Given the description of an element on the screen output the (x, y) to click on. 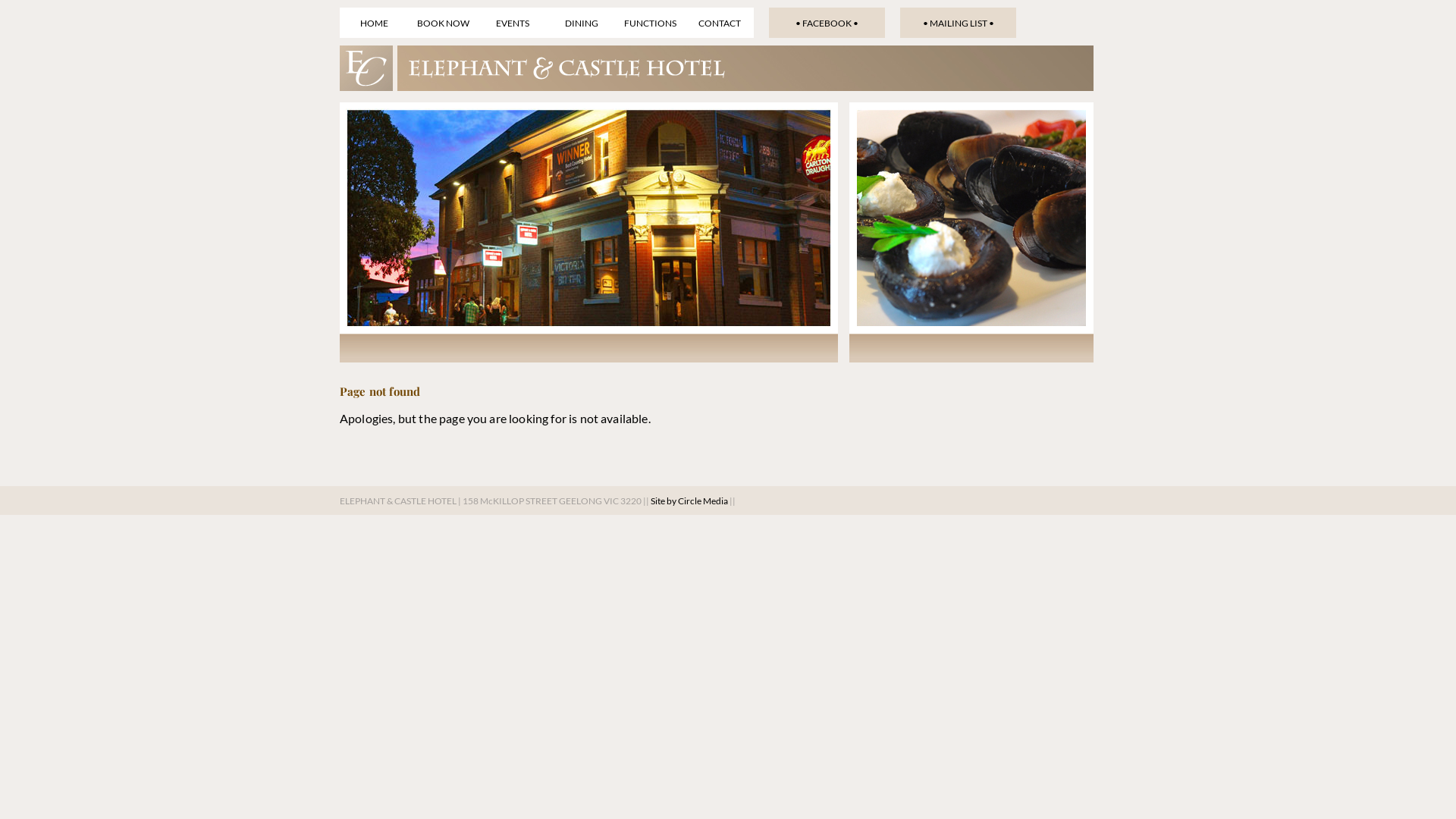
BOOK NOW Element type: text (442, 22)
EVENTS Element type: text (511, 22)
DINING Element type: text (580, 22)
FUNCTIONS Element type: text (649, 22)
CONTACT Element type: text (718, 22)
Site by Circle Media Element type: text (689, 500)
HOME Element type: text (373, 22)
